Given the description of an element on the screen output the (x, y) to click on. 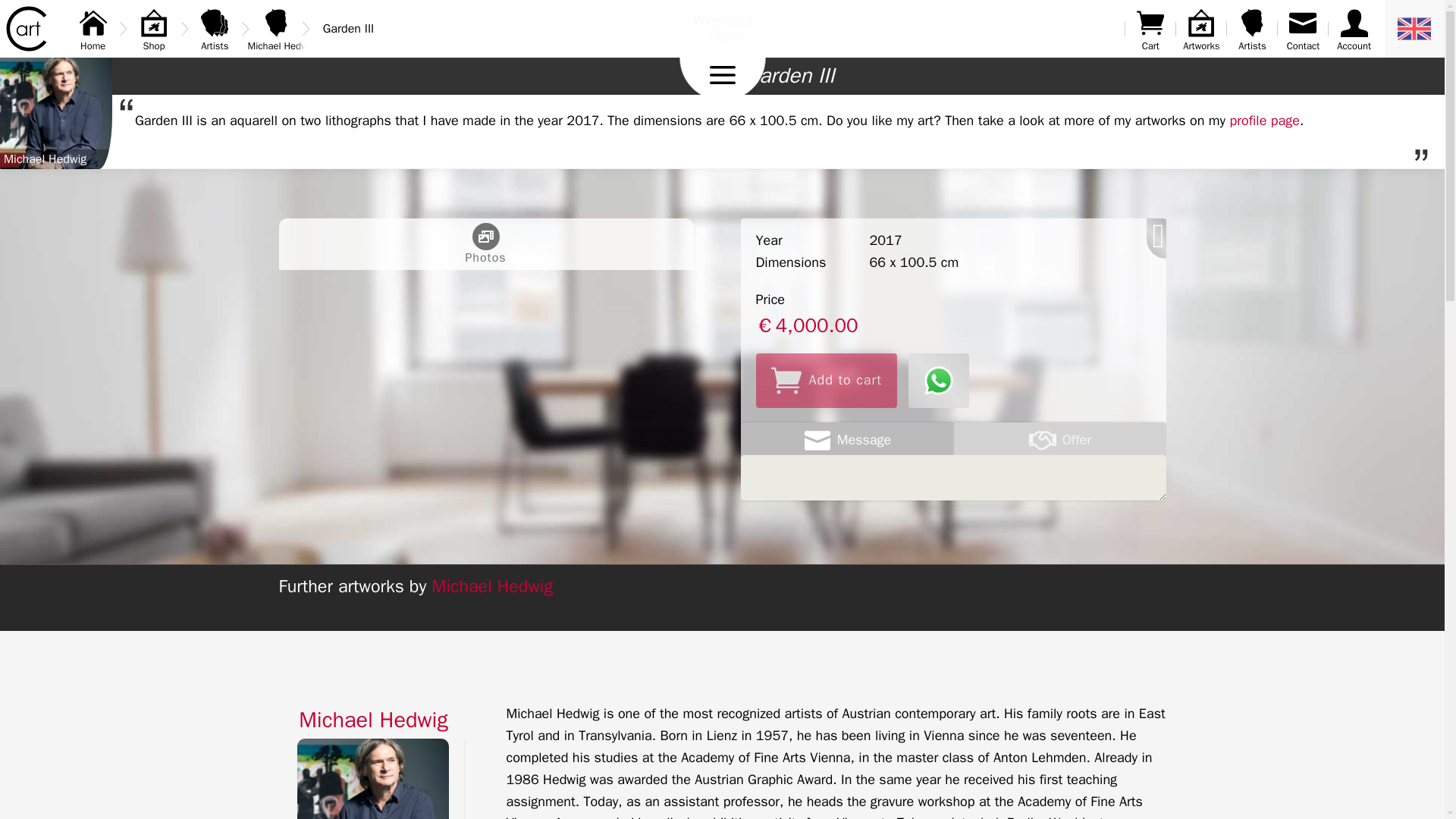
Shop (153, 28)
Title of the artwork (788, 76)
Message (846, 440)
Offer (1059, 440)
Michael Hedwig (275, 28)
Artists (214, 28)
Home (1251, 28)
WhatsApp (92, 28)
